Given the description of an element on the screen output the (x, y) to click on. 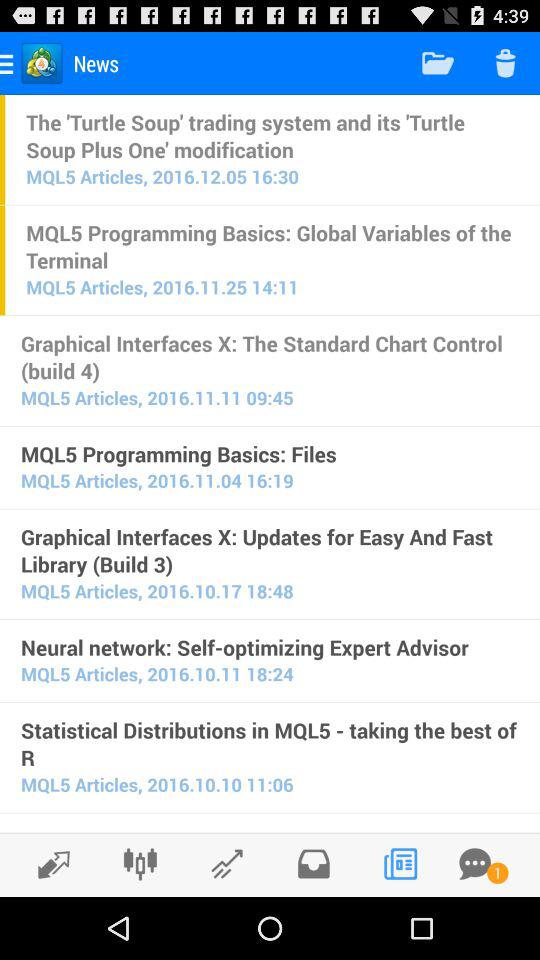
click item above mql5 articles 2016 item (272, 135)
